Given the description of an element on the screen output the (x, y) to click on. 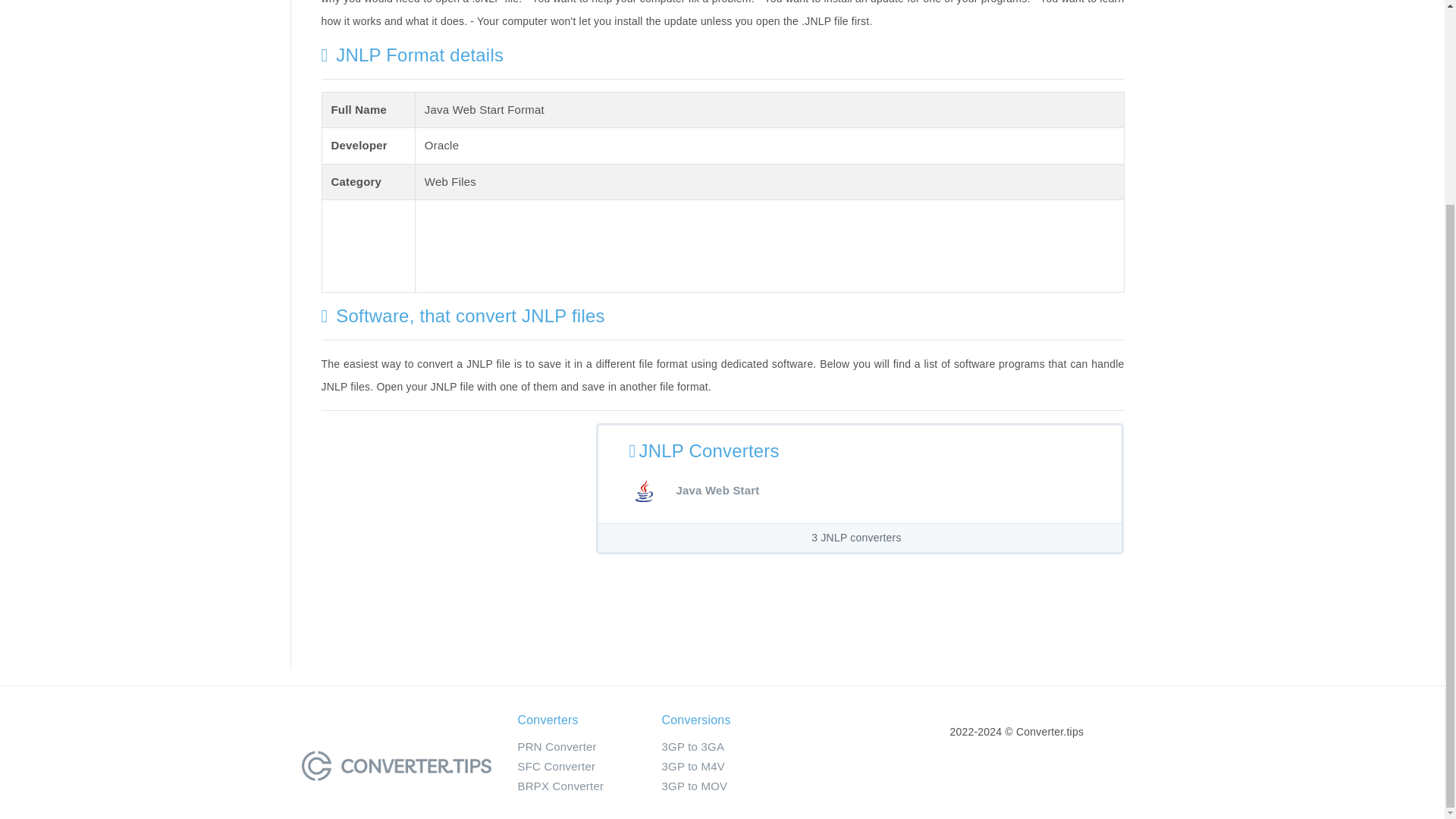
BRPX Converter (560, 785)
PRN Converter (555, 746)
3GP to 3GA (692, 746)
3GP to MOV (693, 785)
Advertisement (448, 529)
Advertisement (700, 243)
3GP to M4V (692, 766)
SFC Converter (555, 766)
